Given the description of an element on the screen output the (x, y) to click on. 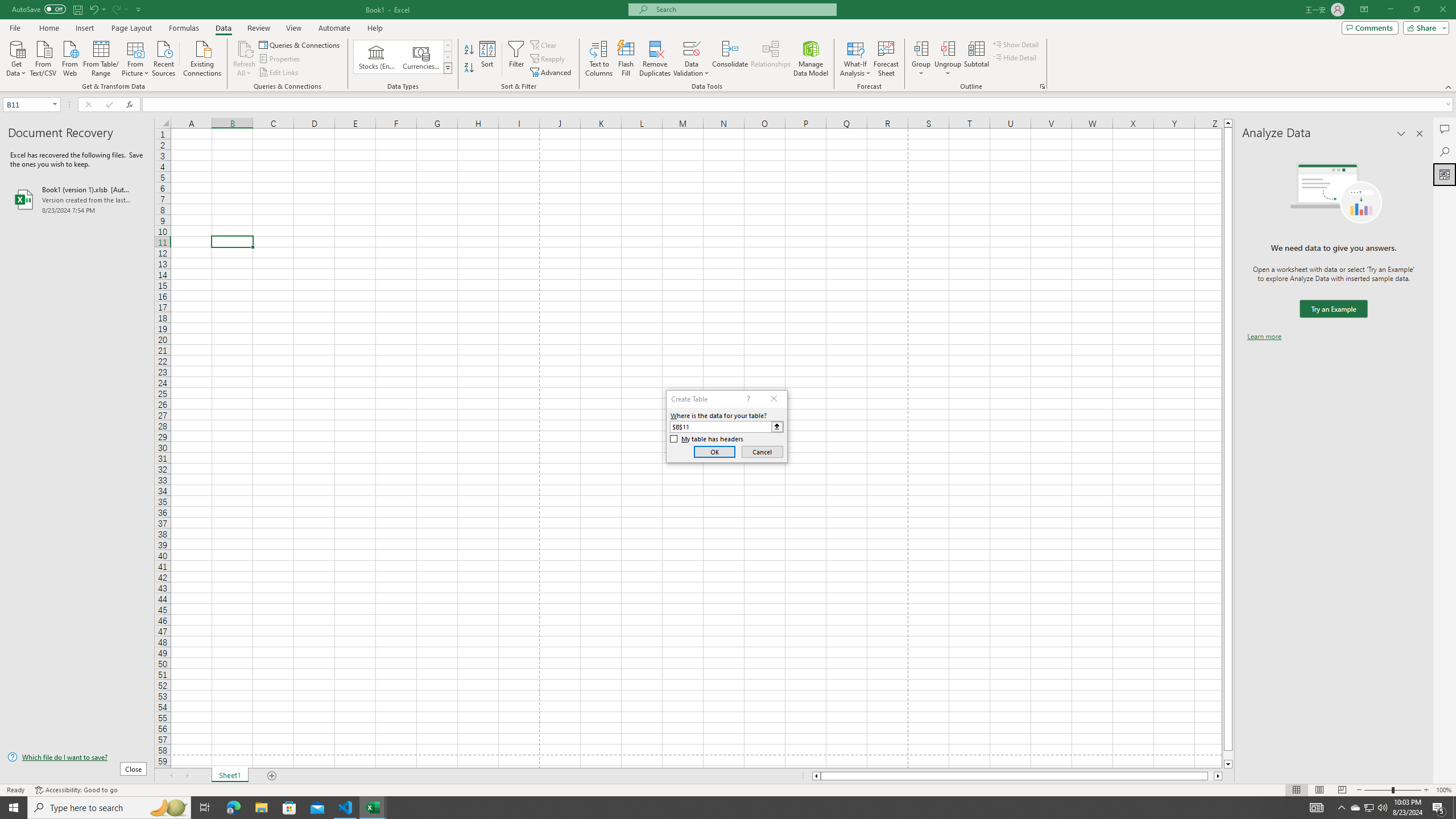
Group and Outline Settings (1042, 85)
Show Detail (1016, 44)
Queries & Connections (300, 44)
